Given the description of an element on the screen output the (x, y) to click on. 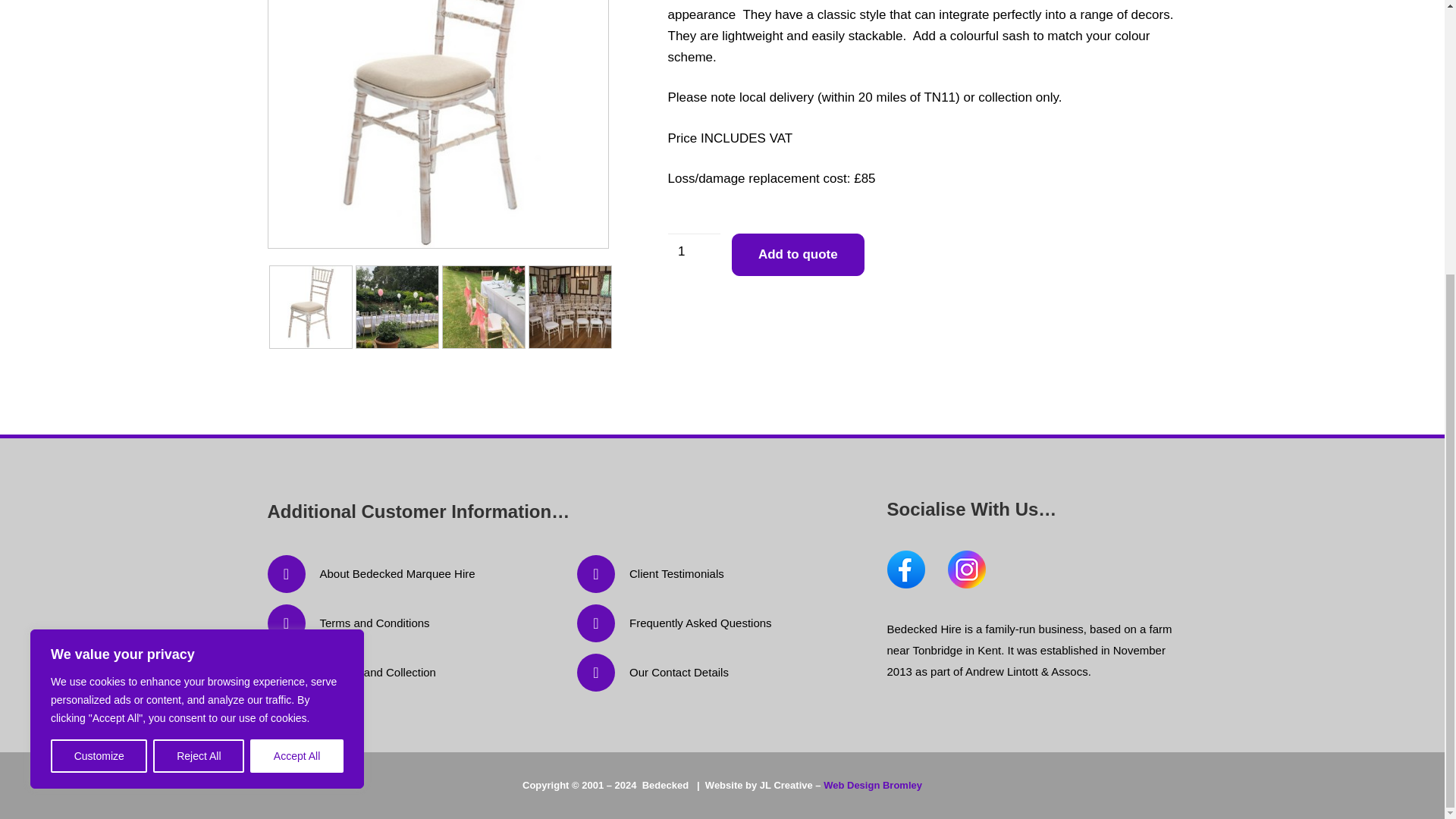
Reject All (198, 352)
Accept All (296, 352)
Customize (98, 352)
Chavari Chair - Limewash and White (437, 124)
1 (693, 251)
